Given the description of an element on the screen output the (x, y) to click on. 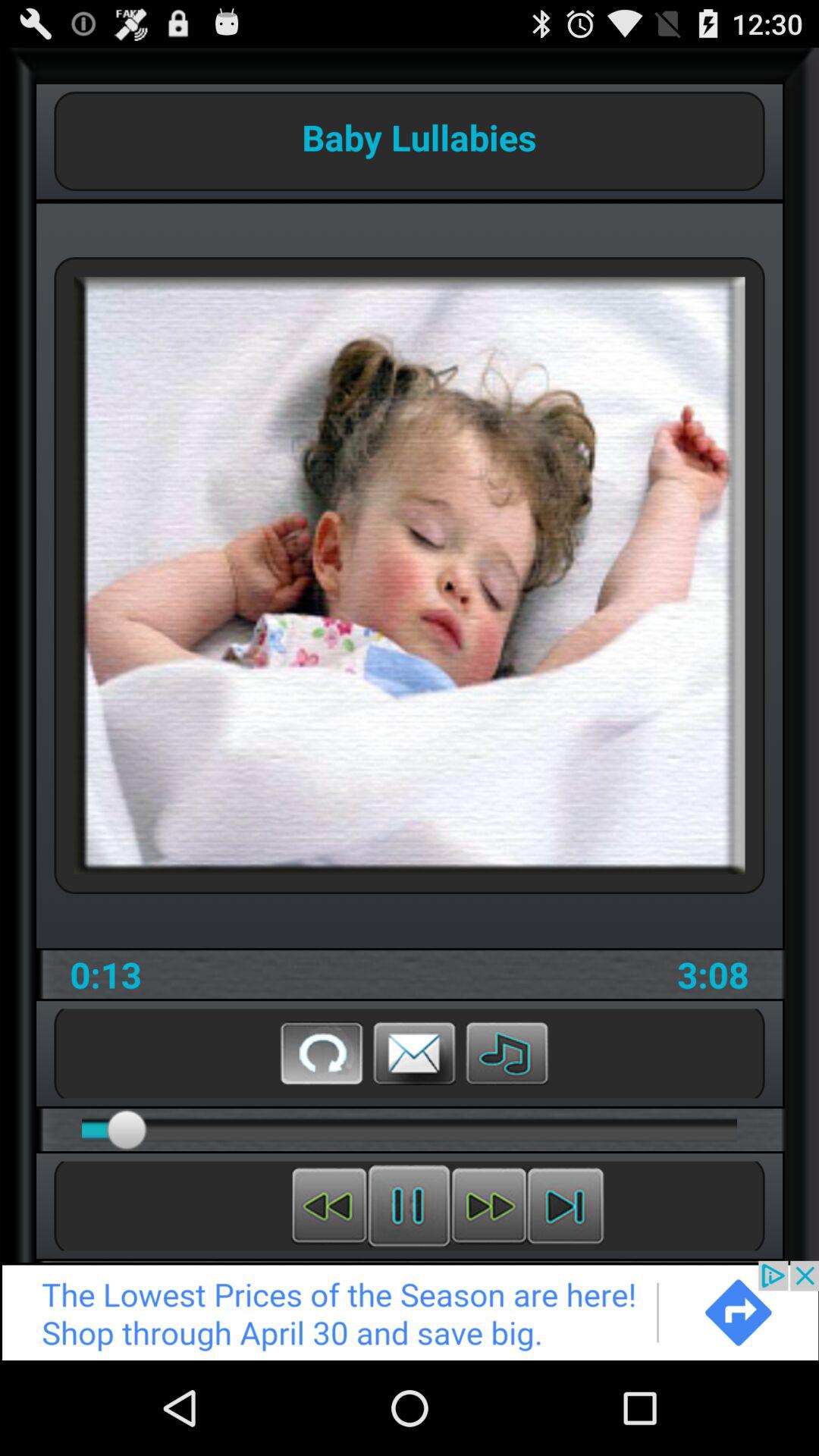
next lullaby (565, 1205)
